Given the description of an element on the screen output the (x, y) to click on. 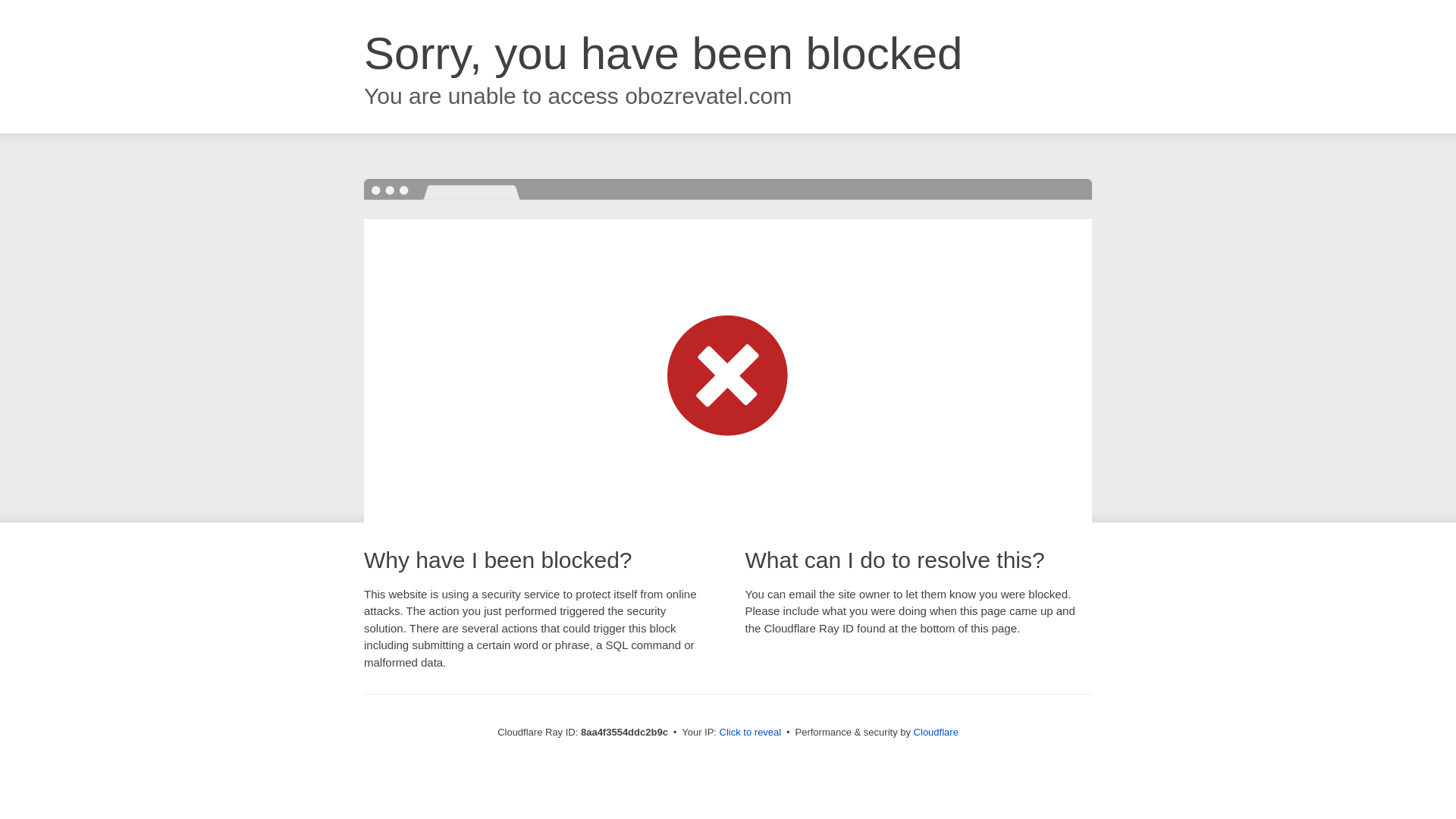
Click to reveal (750, 732)
Cloudflare (936, 731)
